Given the description of an element on the screen output the (x, y) to click on. 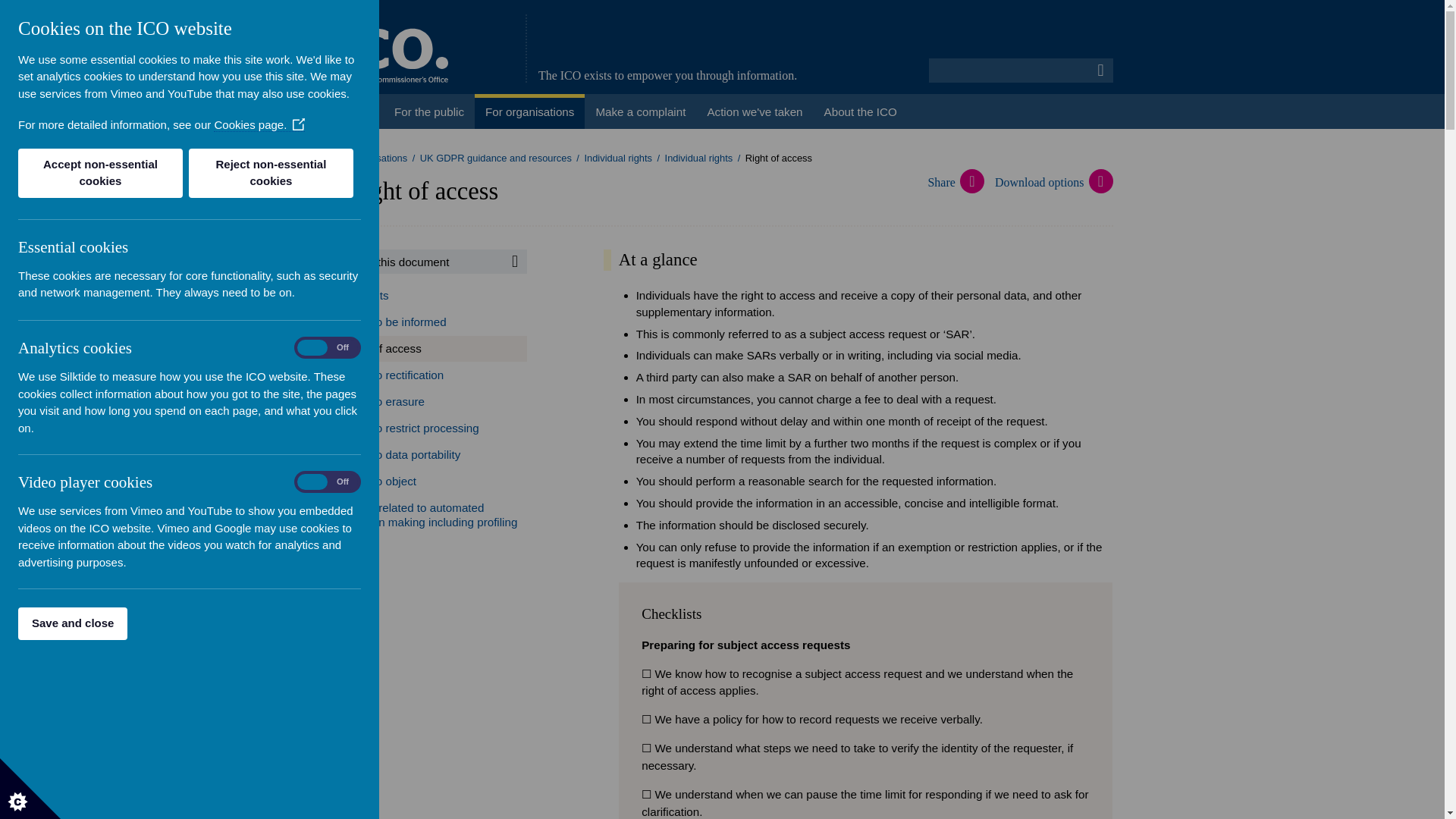
For the public (429, 110)
Search (514, 261)
Search (1101, 70)
Make a complaint (640, 110)
Individual rights (699, 158)
Right of access (429, 348)
For organisations (369, 158)
Share (959, 182)
Cookies page.Cookie Control Link Icon (259, 124)
Home (357, 110)
Right to erasure (429, 401)
Cookie Control Link Icon (298, 125)
For organisations (529, 110)
Download options (1053, 182)
Right to be informed (429, 322)
